Given the description of an element on the screen output the (x, y) to click on. 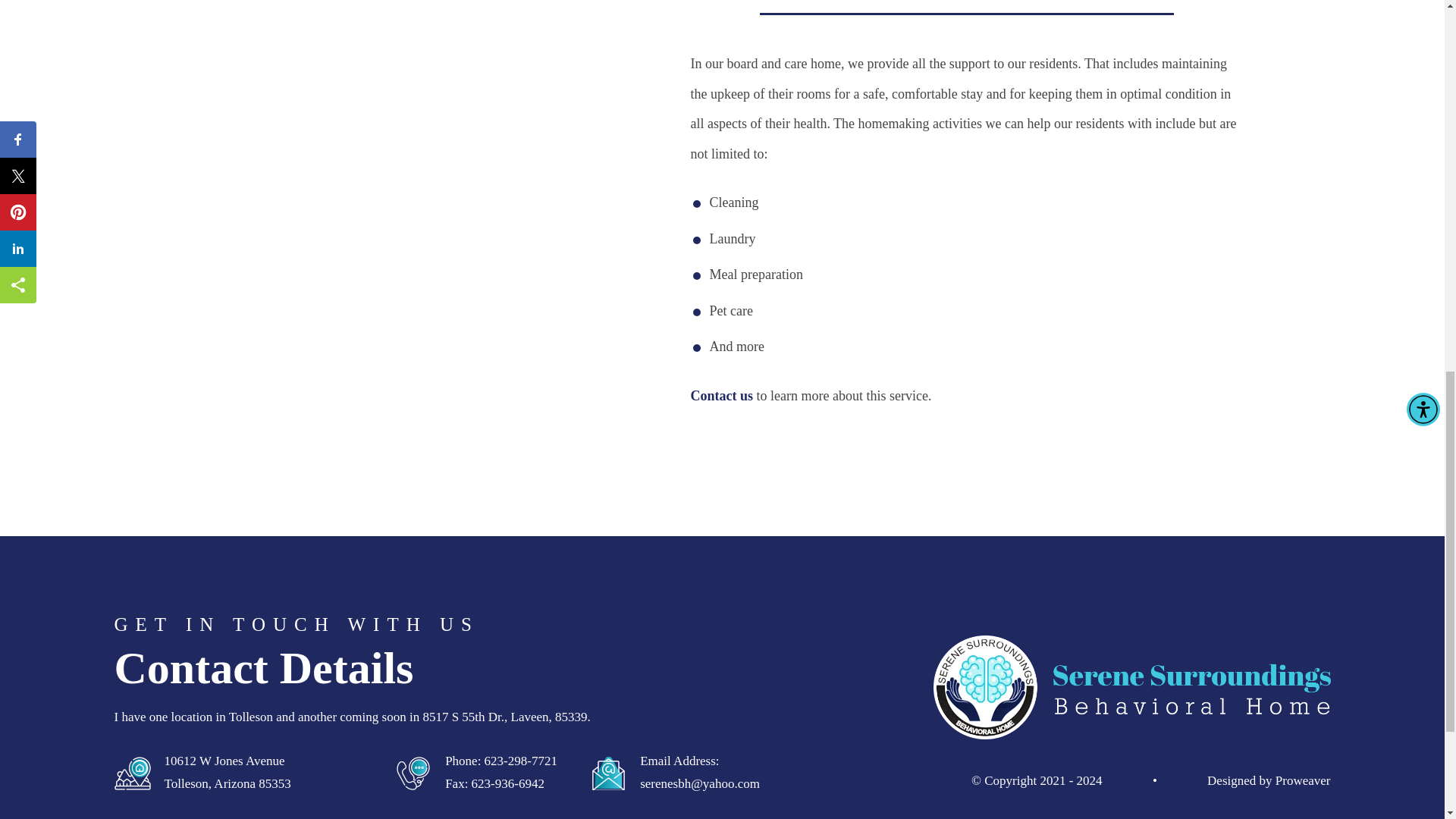
Proweaver (1302, 780)
Contact us (721, 395)
